Given the description of an element on the screen output the (x, y) to click on. 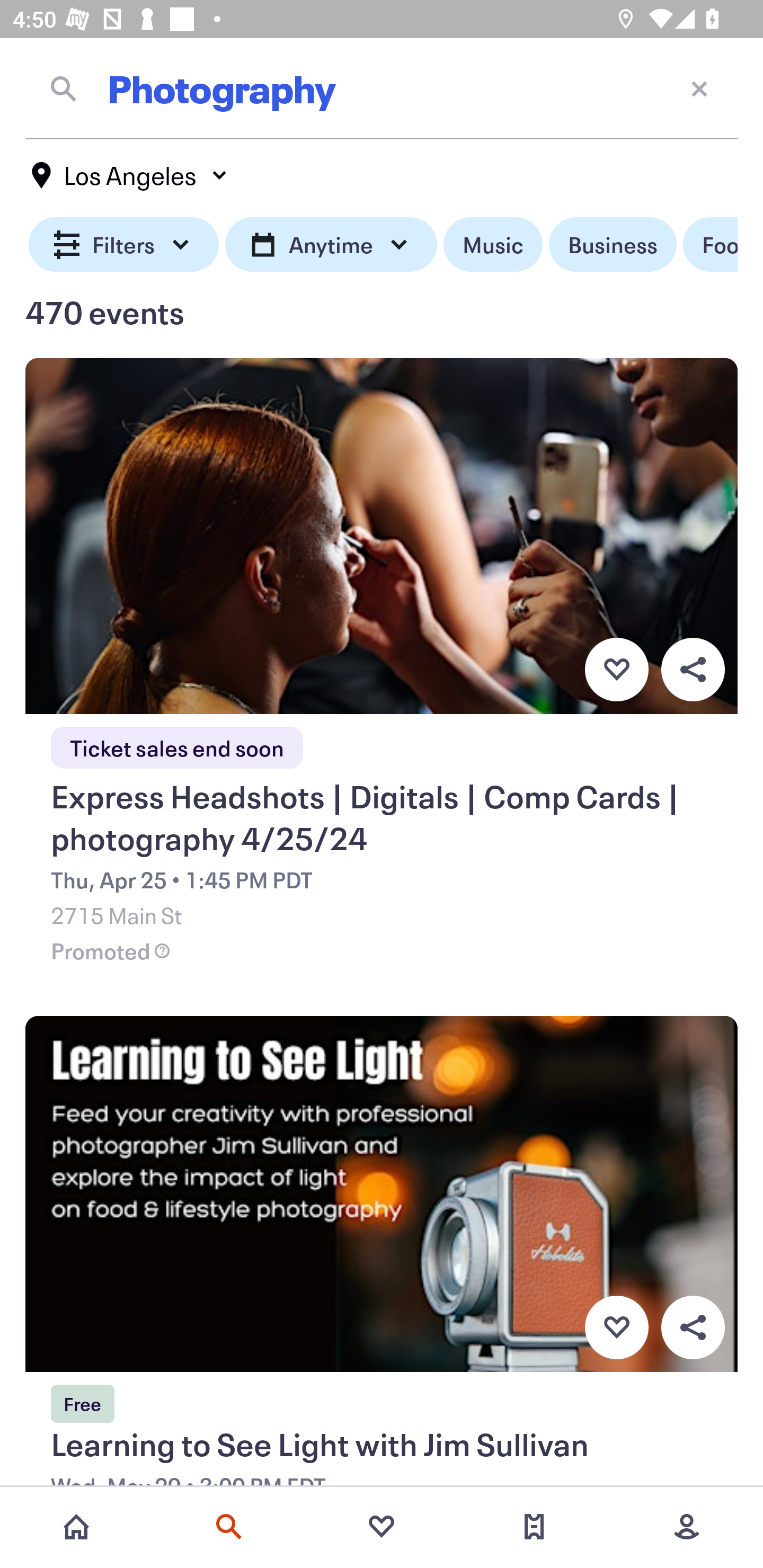
Photography Close current screen (381, 88)
Close current screen (699, 88)
Los Angeles (130, 175)
Filters (123, 244)
Anytime (331, 244)
Music (492, 244)
Business (612, 244)
Favorite button (616, 669)
Overflow menu button (692, 669)
Favorite button (616, 1326)
Overflow menu button (692, 1326)
Home (76, 1526)
Search events (228, 1526)
Favorites (381, 1526)
Tickets (533, 1526)
More (686, 1526)
